Given the description of an element on the screen output the (x, y) to click on. 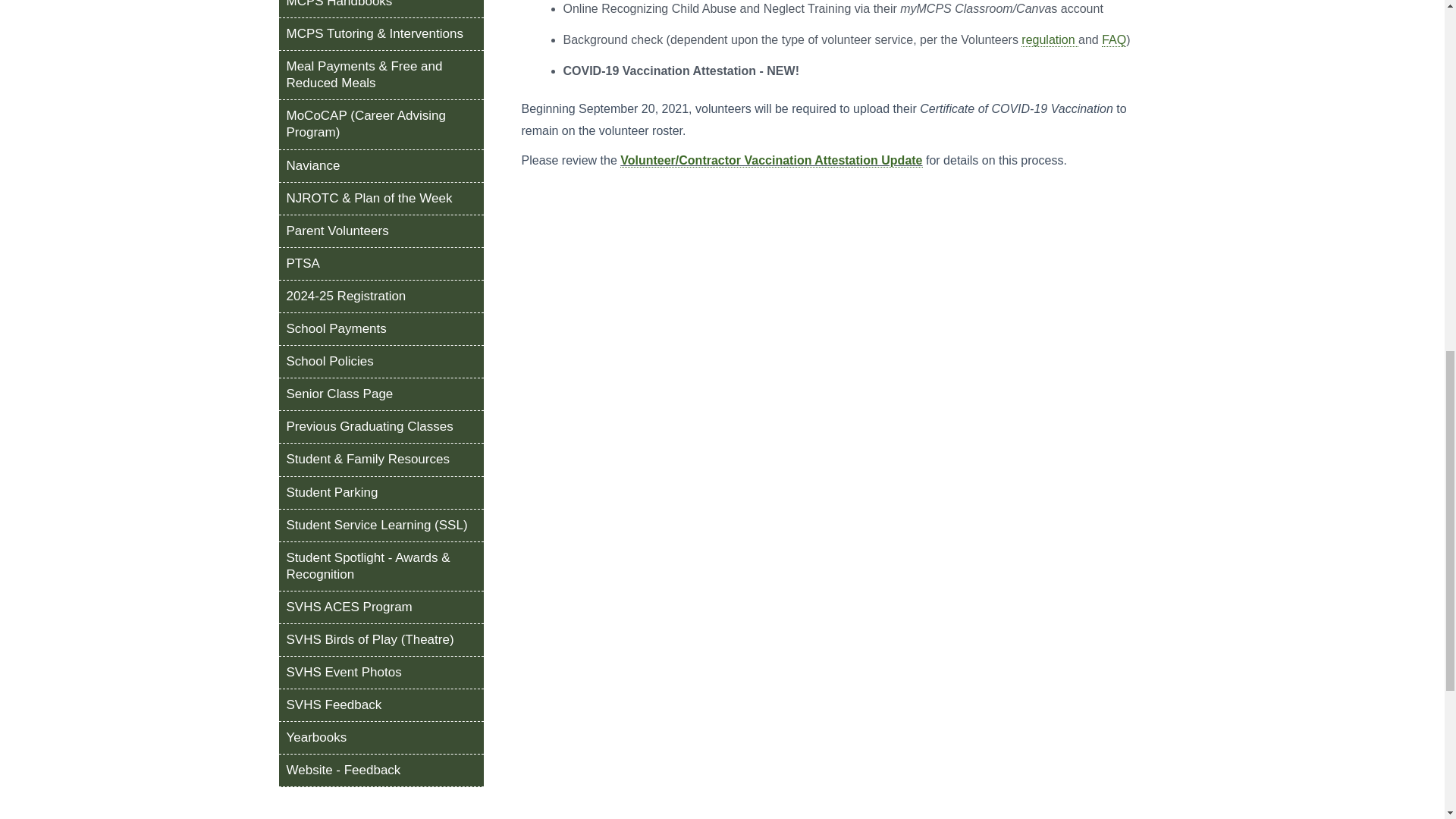
FAQ (1113, 39)
regulation  (1050, 39)
Parent Volunteers (381, 231)
MCPS Handbooks (381, 8)
